Given the description of an element on the screen output the (x, y) to click on. 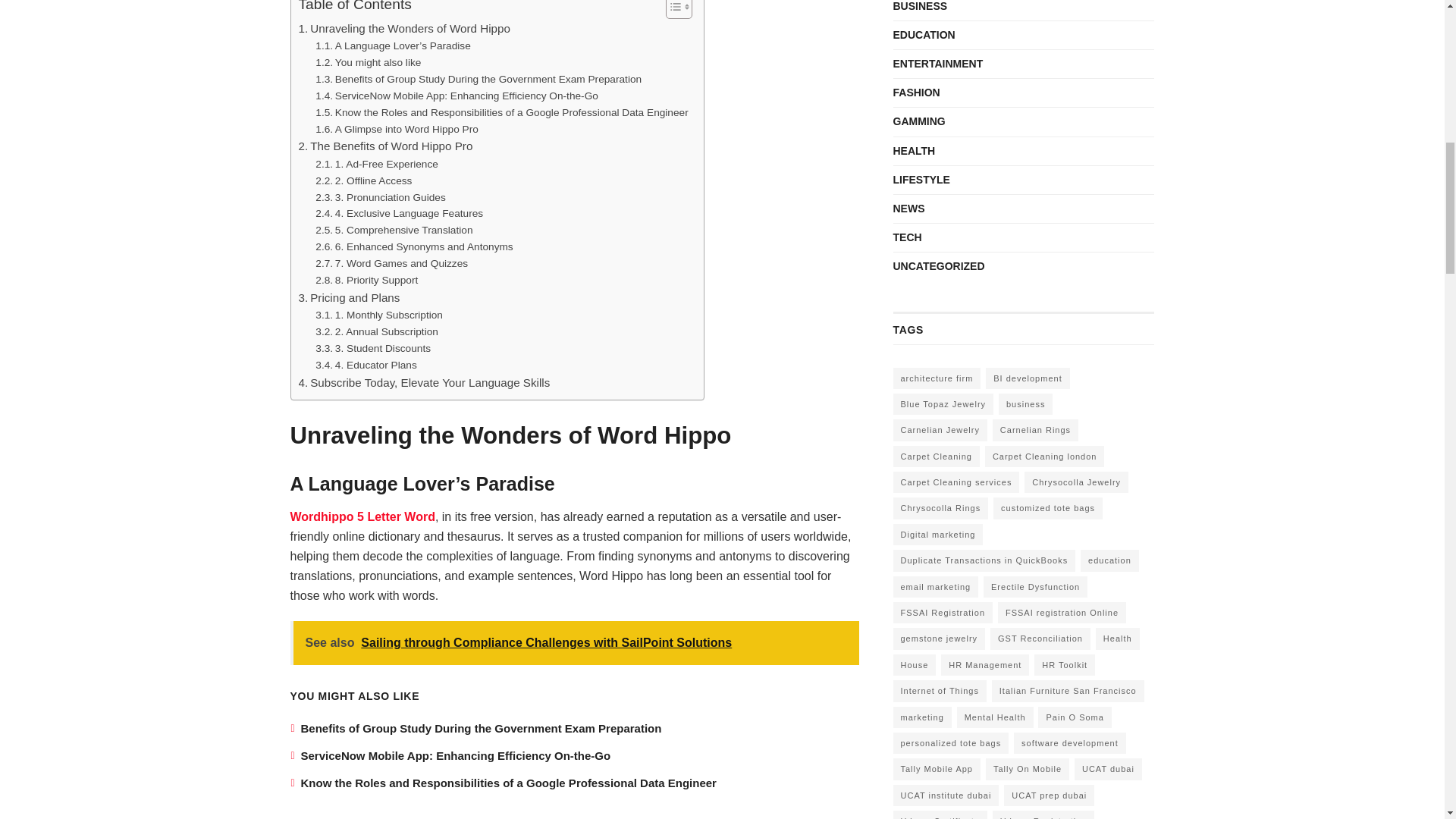
The Benefits of Word Hippo Pro (385, 146)
1. Ad-Free Experience (376, 164)
You might also like (367, 62)
Unraveling the Wonders of Word Hippo (404, 28)
3. Pronunciation Guides (380, 197)
3. Pronunciation Guides (380, 197)
The Benefits of Word Hippo Pro (385, 146)
1. Ad-Free Experience (376, 164)
You might also like (367, 62)
ServiceNow Mobile App: Enhancing Efficiency On-the-Go (456, 95)
4. Exclusive Language Features (399, 213)
5. Comprehensive Translation (393, 230)
5. Comprehensive Translation (393, 230)
